Given the description of an element on the screen output the (x, y) to click on. 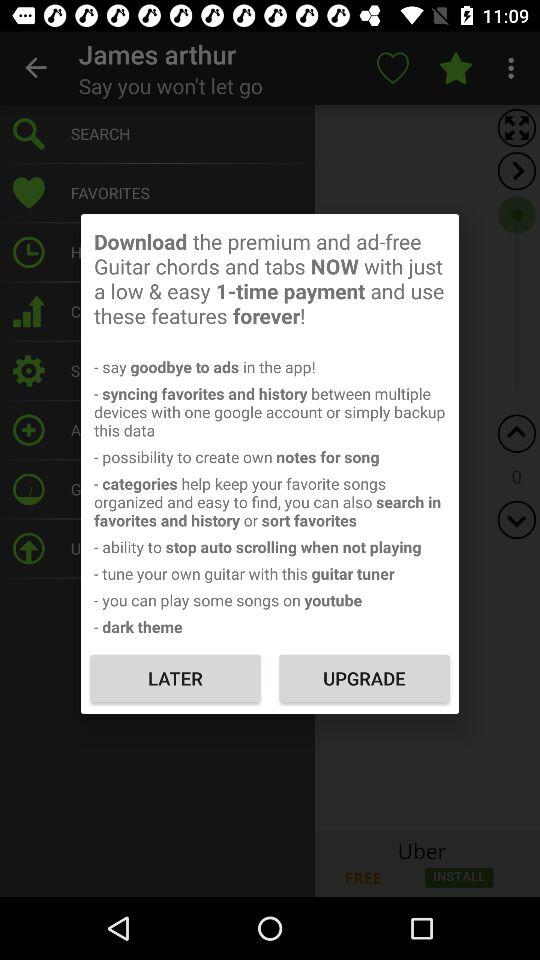
open the icon to the left of the upgrade item (175, 677)
